Given the description of an element on the screen output the (x, y) to click on. 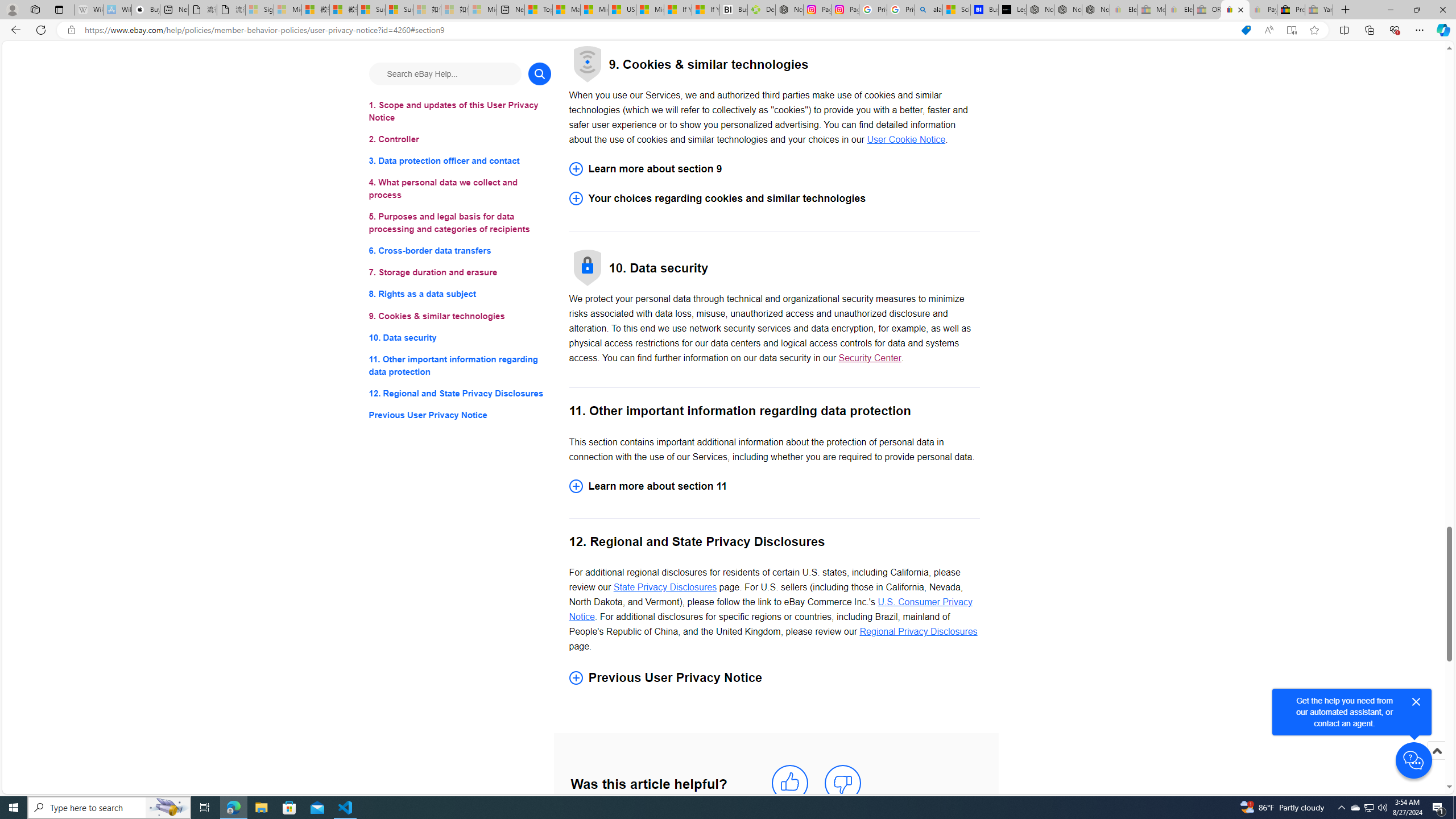
12. Regional and State Privacy Disclosures (459, 392)
Scroll to top (1435, 762)
10. Data security (459, 336)
Your choices regarding cookies and similar technologies (774, 198)
User Cookie Notice (906, 139)
9. Cookies & similar technologies (459, 315)
